Given the description of an element on the screen output the (x, y) to click on. 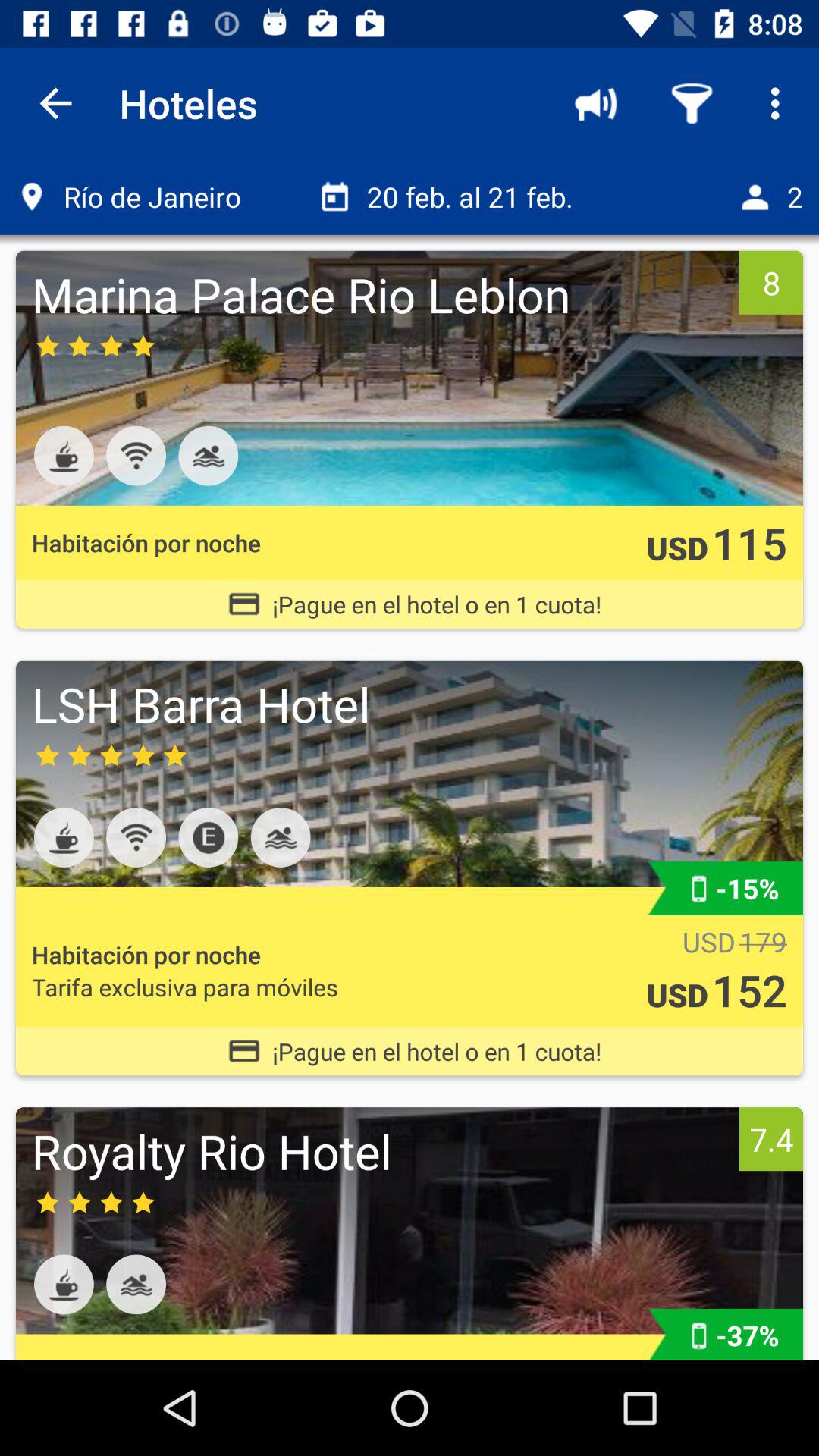
tap the icon below the pague en el item (381, 1151)
